Given the description of an element on the screen output the (x, y) to click on. 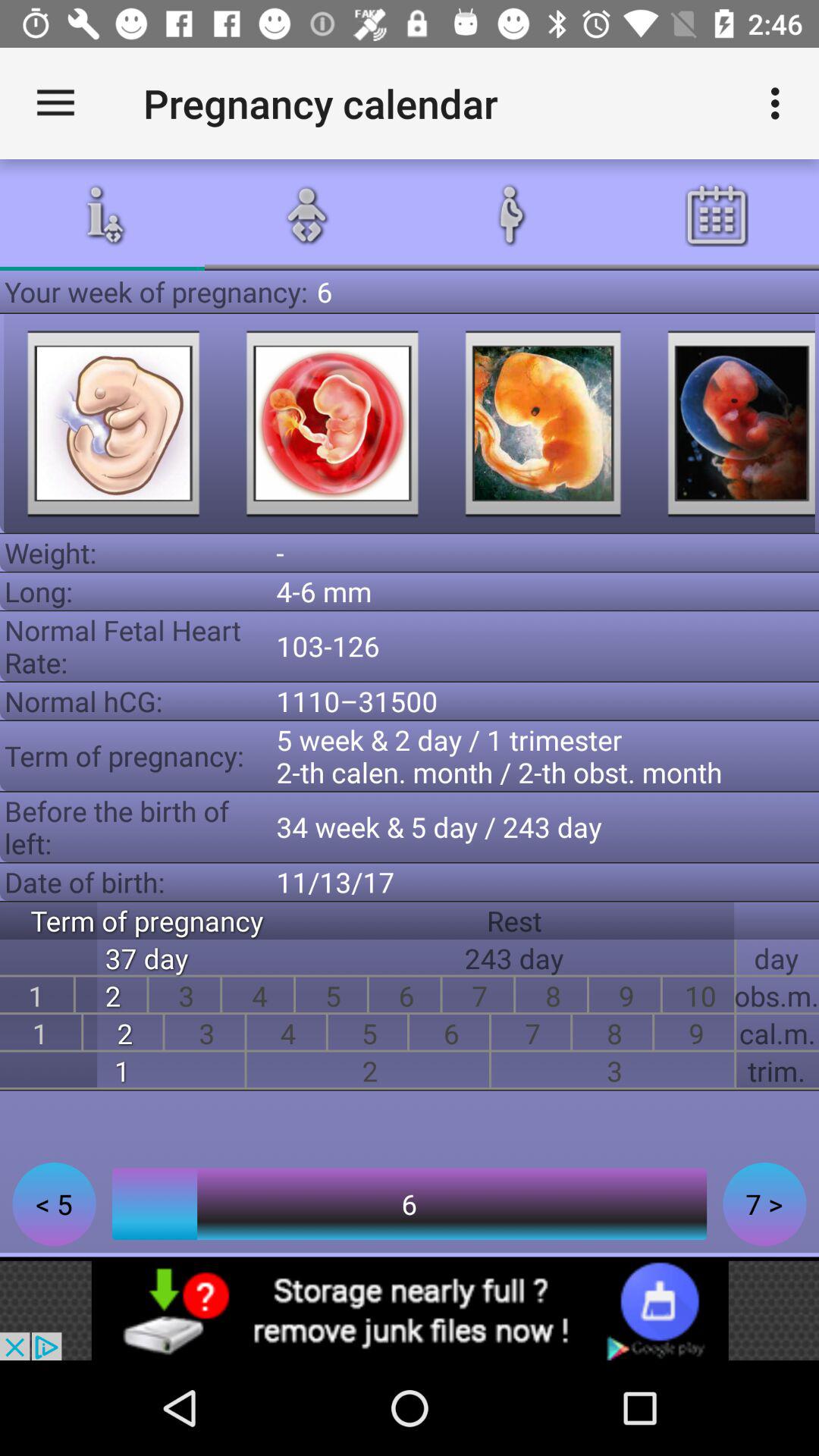
picture pages (112, 422)
